Given the description of an element on the screen output the (x, y) to click on. 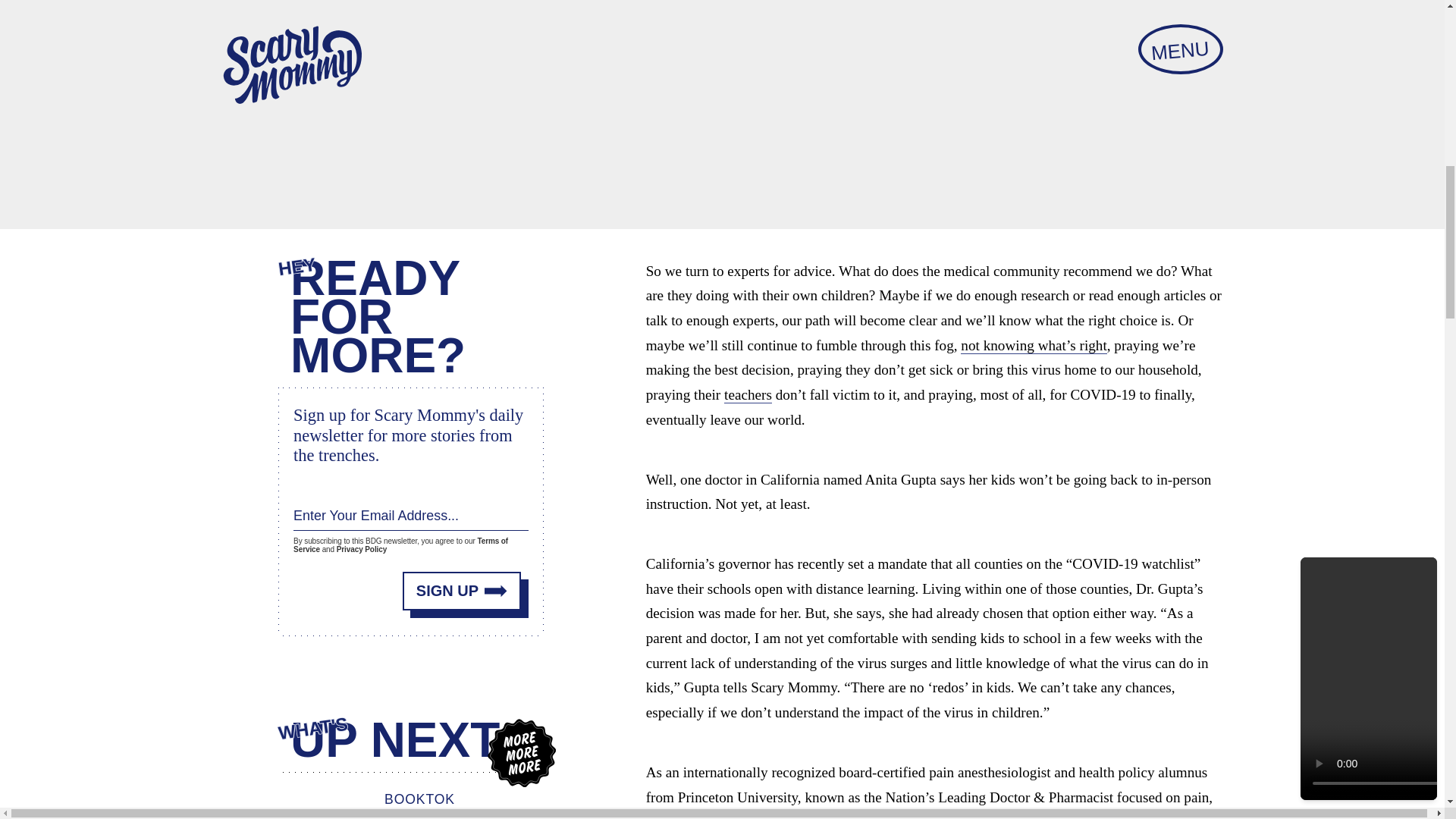
Dr. Anita Gupta (828, 816)
SIGN UP (462, 590)
Terms of Service (401, 545)
Privacy Policy (361, 549)
teachers (747, 394)
